Given the description of an element on the screen output the (x, y) to click on. 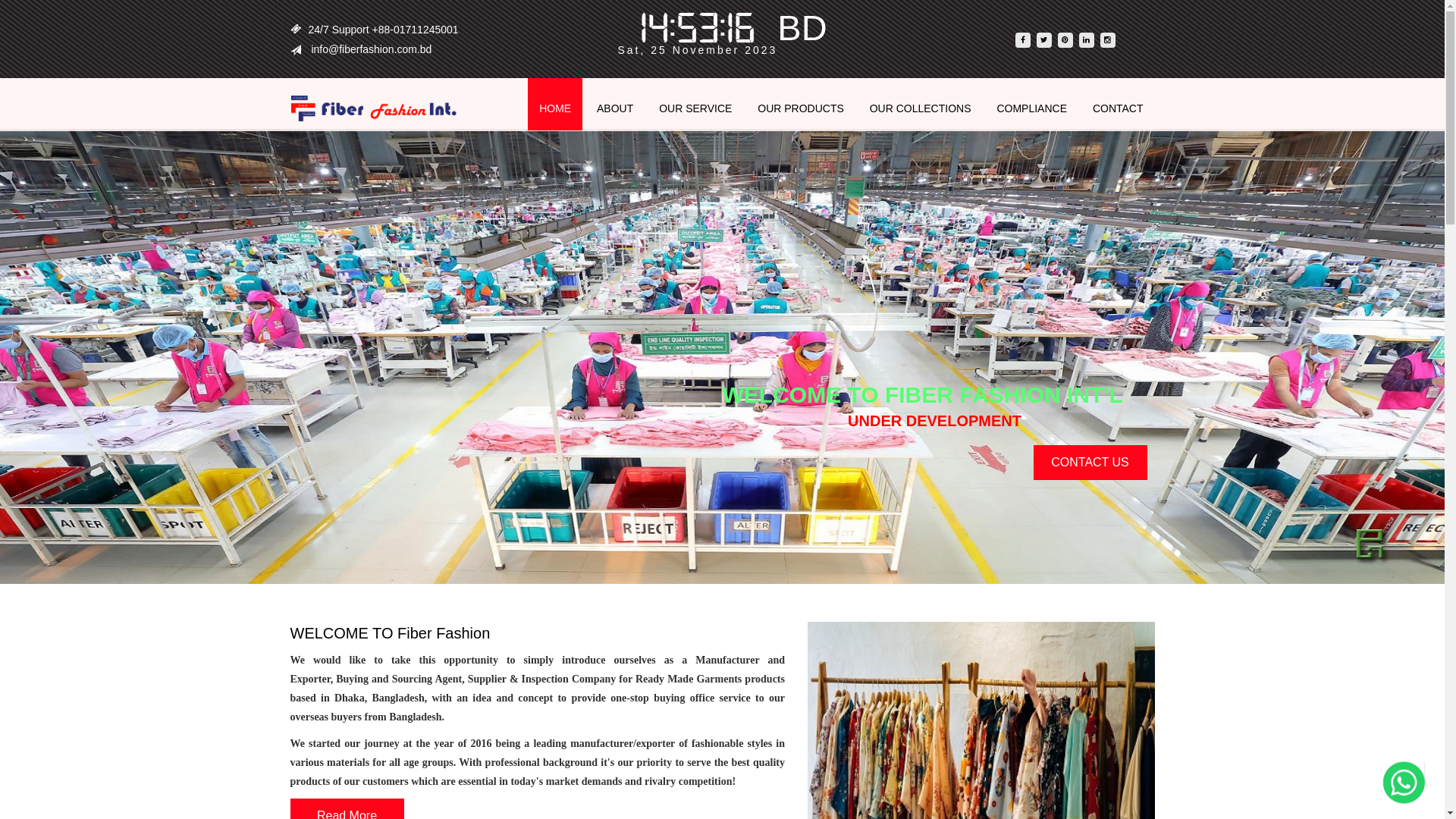
Linkedin Element type: hover (1086, 39)
Instagram Element type: hover (1107, 39)
HOME Element type: text (554, 104)
OUR PRODUCTS Element type: text (800, 104)
Twitter Element type: hover (1043, 39)
CONTACT Element type: text (1117, 104)
Fiber Fashion Element type: hover (372, 108)
OUR COLLECTIONS Element type: text (920, 104)
Pinterest Element type: hover (1065, 39)
info@fiberfashion.com.bd Element type: text (370, 49)
OUR SERVICE Element type: text (695, 104)
ABOUT Element type: text (614, 104)
COMPLIANCE Element type: text (1031, 104)
Facebook Element type: hover (1022, 39)
CONTACT US Element type: text (1089, 461)
